Given the description of an element on the screen output the (x, y) to click on. 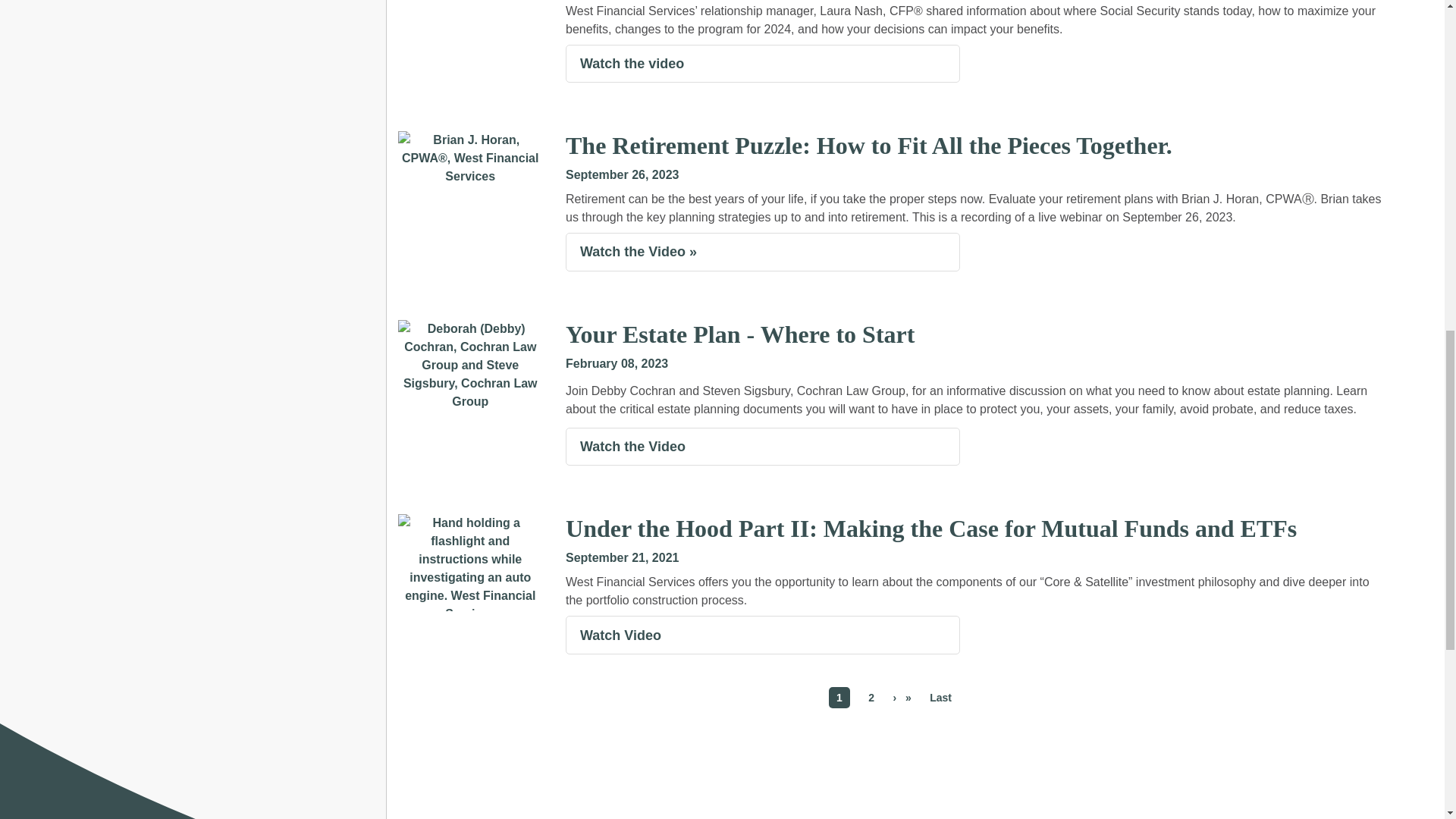
Go to last page (940, 697)
Go to page 2 (871, 697)
Current page (839, 697)
Go to next page (901, 697)
